Given the description of an element on the screen output the (x, y) to click on. 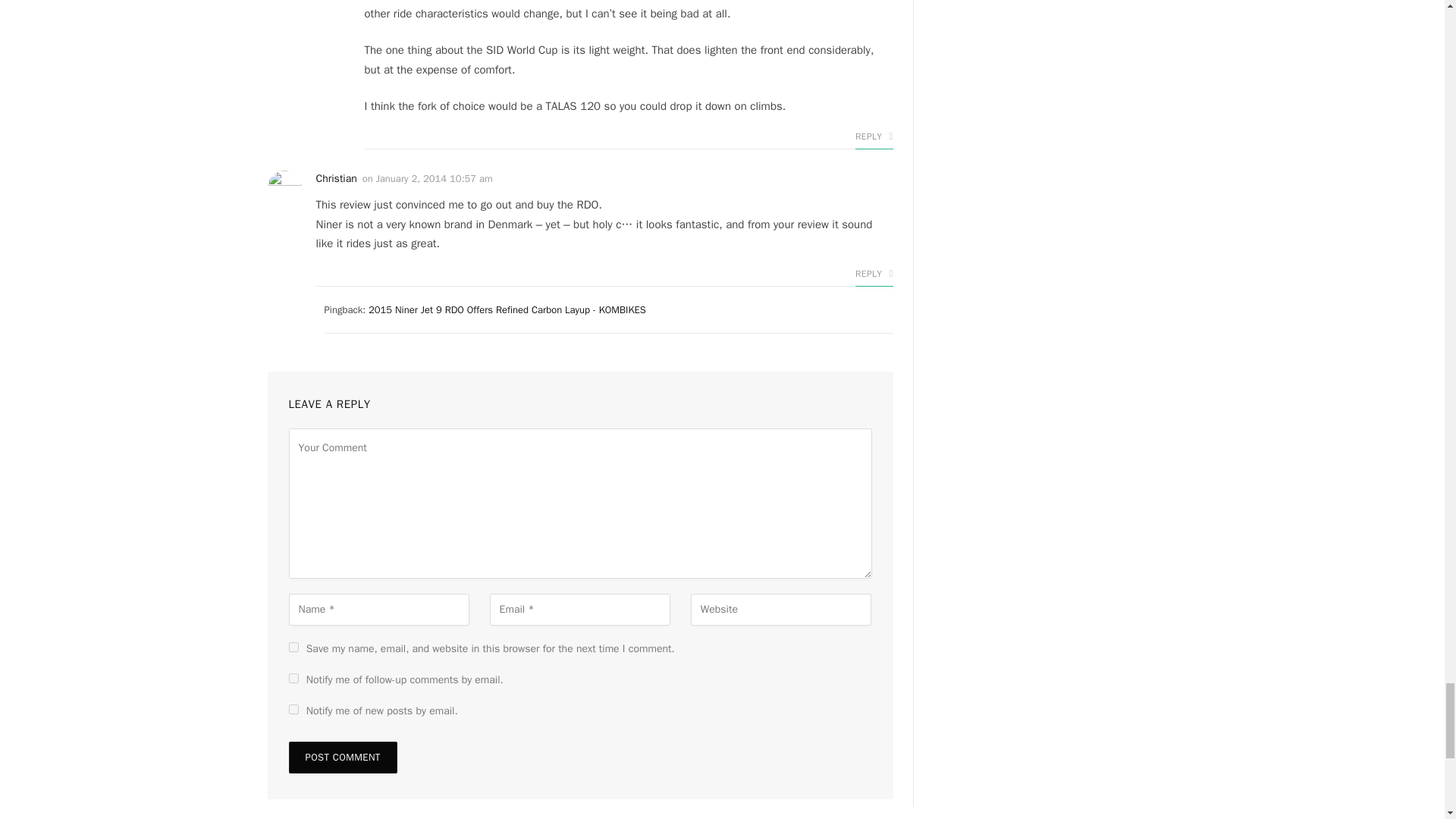
yes (293, 646)
Post Comment (342, 757)
subscribe (293, 709)
subscribe (293, 678)
